Given the description of an element on the screen output the (x, y) to click on. 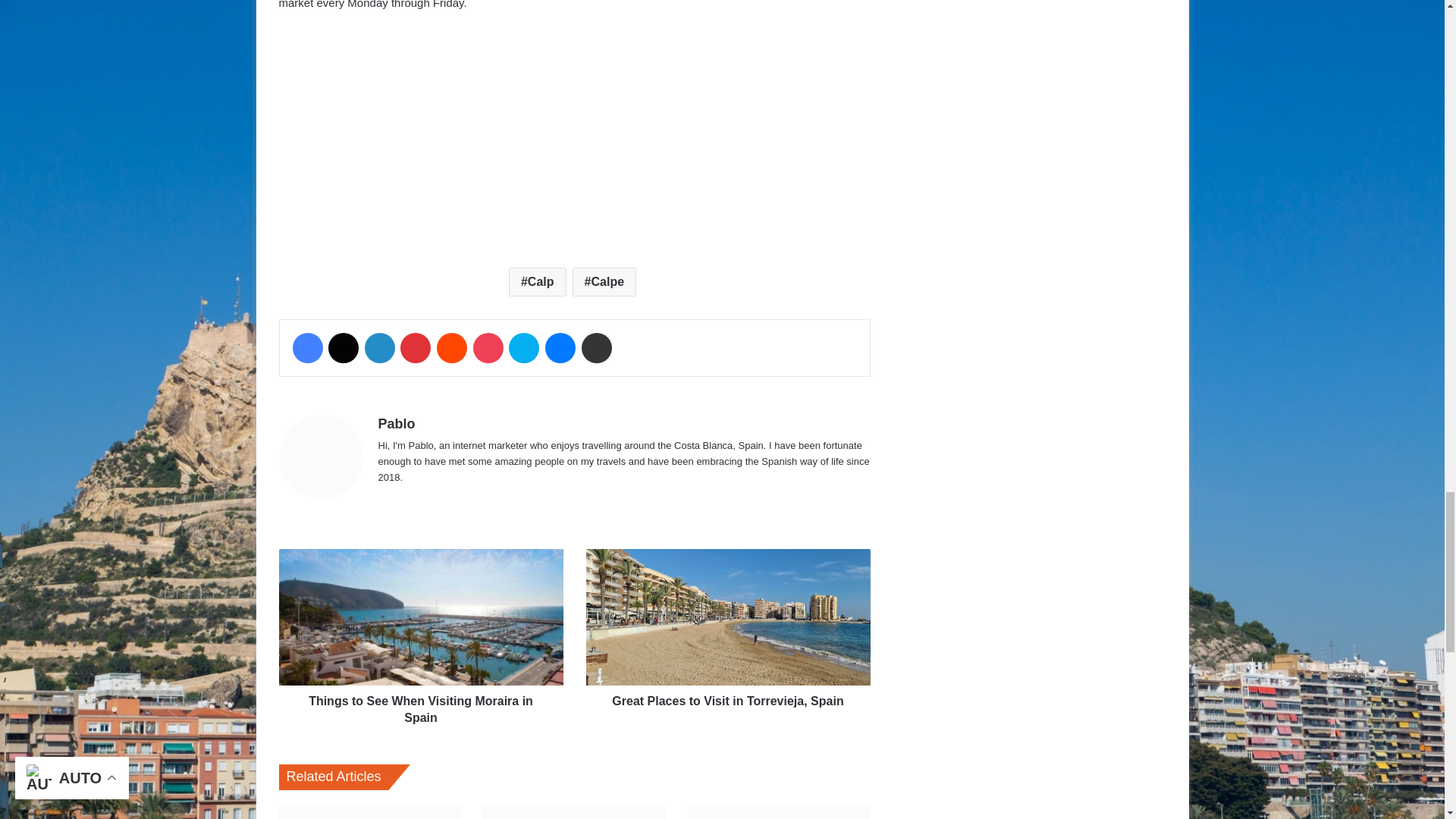
X (343, 347)
LinkedIn (379, 347)
Facebook (307, 347)
Messenger (559, 347)
Skype (523, 347)
Calpe (604, 281)
Calp (537, 281)
Pocket (488, 347)
Facebook (307, 347)
Share via Email (595, 347)
Reddit (451, 347)
Pinterest (415, 347)
